Given the description of an element on the screen output the (x, y) to click on. 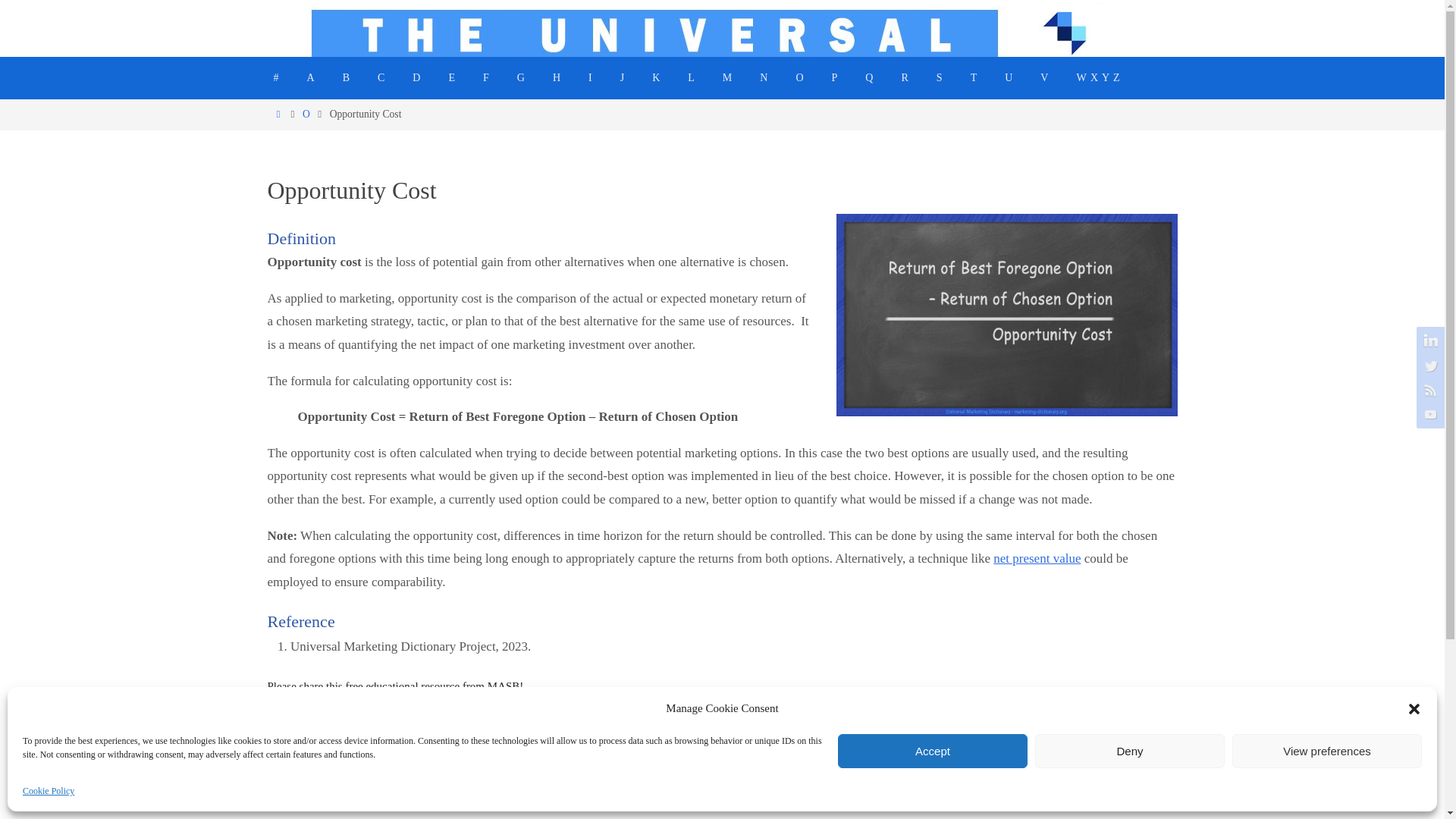
Deny (1129, 750)
Accept (932, 750)
View preferences (1326, 750)
Cookie Policy (48, 791)
